Given the description of an element on the screen output the (x, y) to click on. 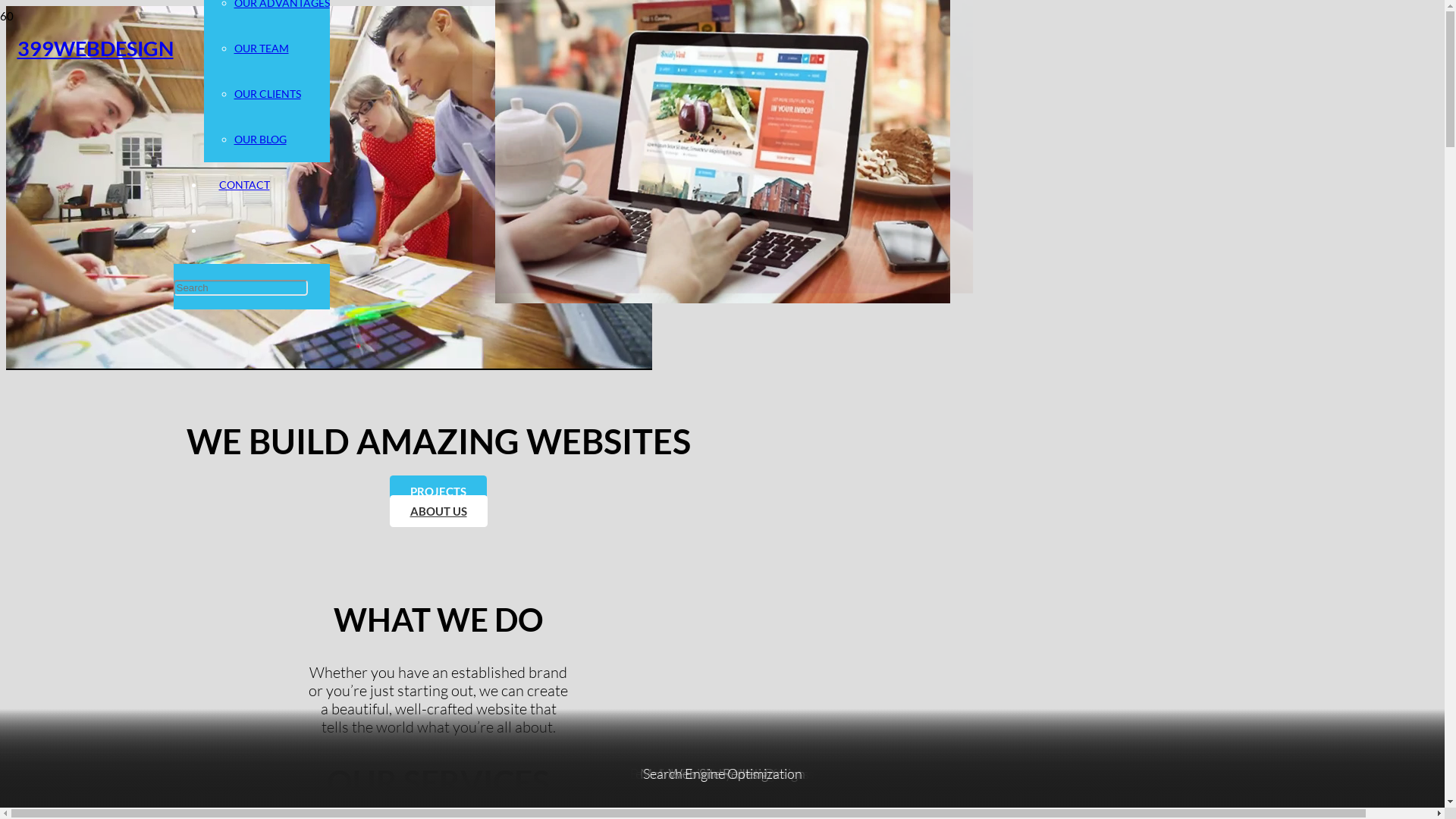
OUR TEAM Element type: text (260, 47)
OUR CLIENTS Element type: text (266, 93)
PROJECTS Element type: text (437, 491)
OUR BLOG Element type: text (259, 138)
CONTACT Element type: text (243, 184)
399WEBDESIGN Element type: text (94, 47)
ABOUT US Element type: text (438, 511)
